Given the description of an element on the screen output the (x, y) to click on. 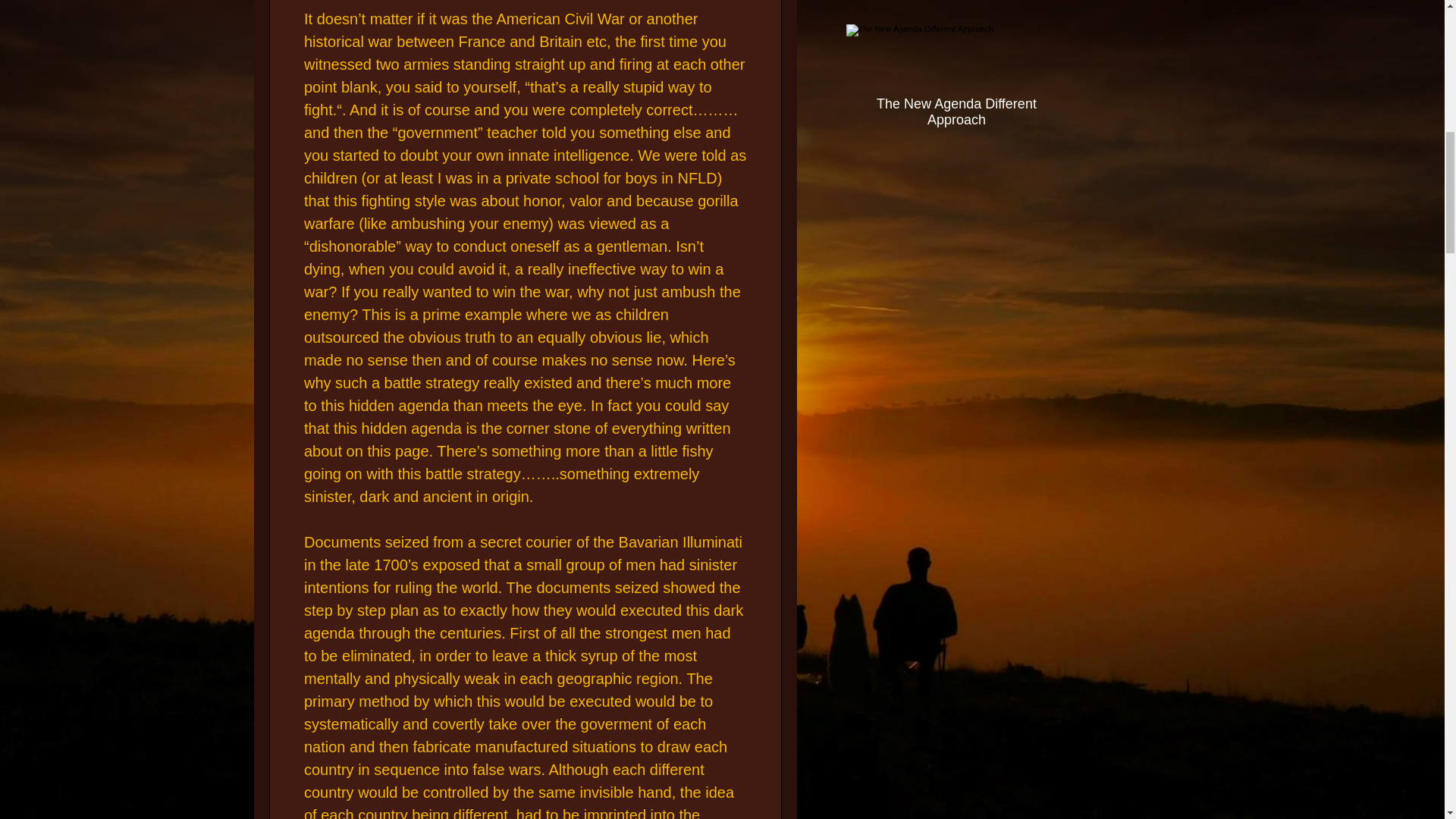
The New Agenda Different Approach (955, 104)
